Given the description of an element on the screen output the (x, y) to click on. 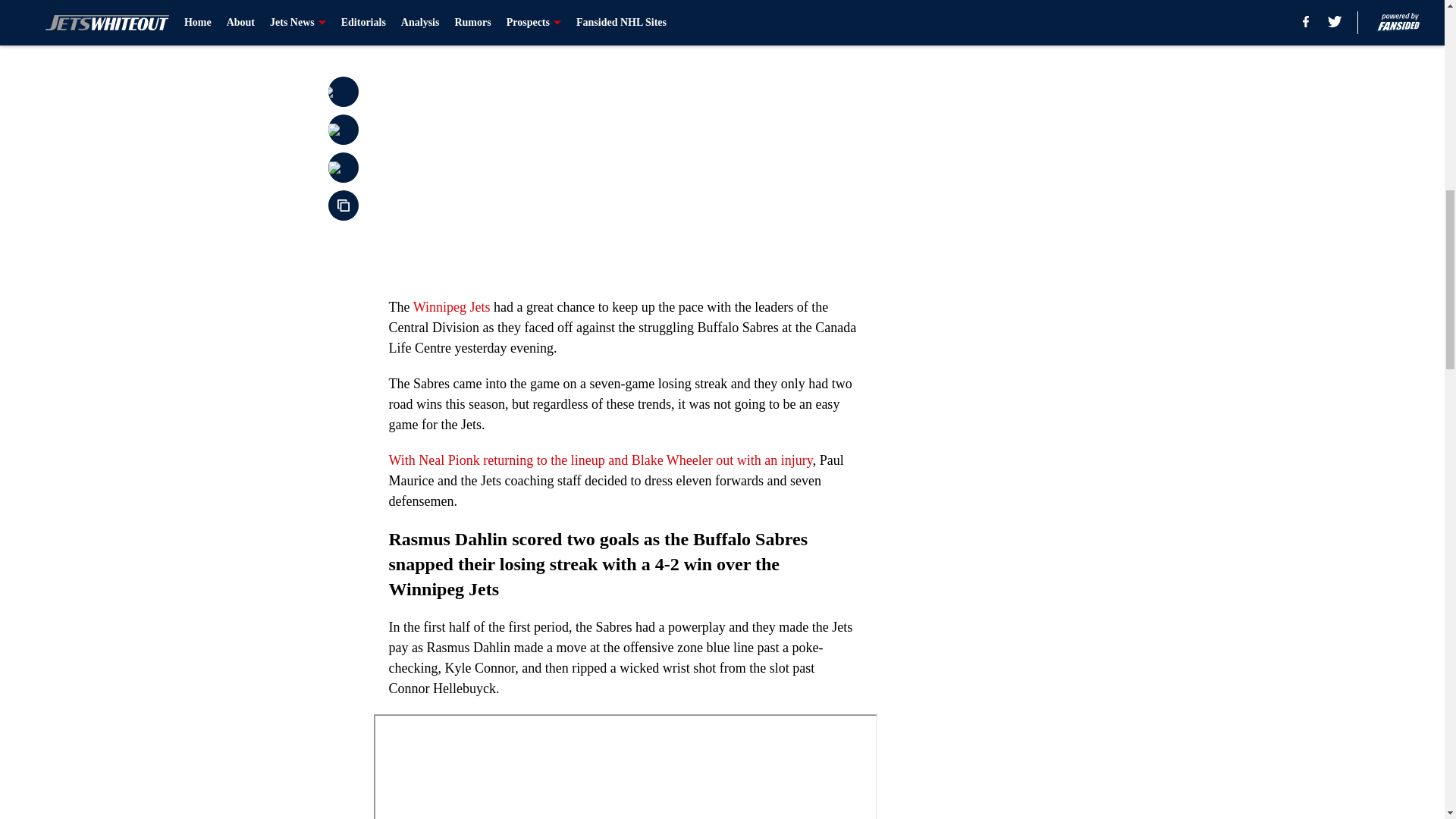
Winnipeg Jets (451, 306)
